Given the description of an element on the screen output the (x, y) to click on. 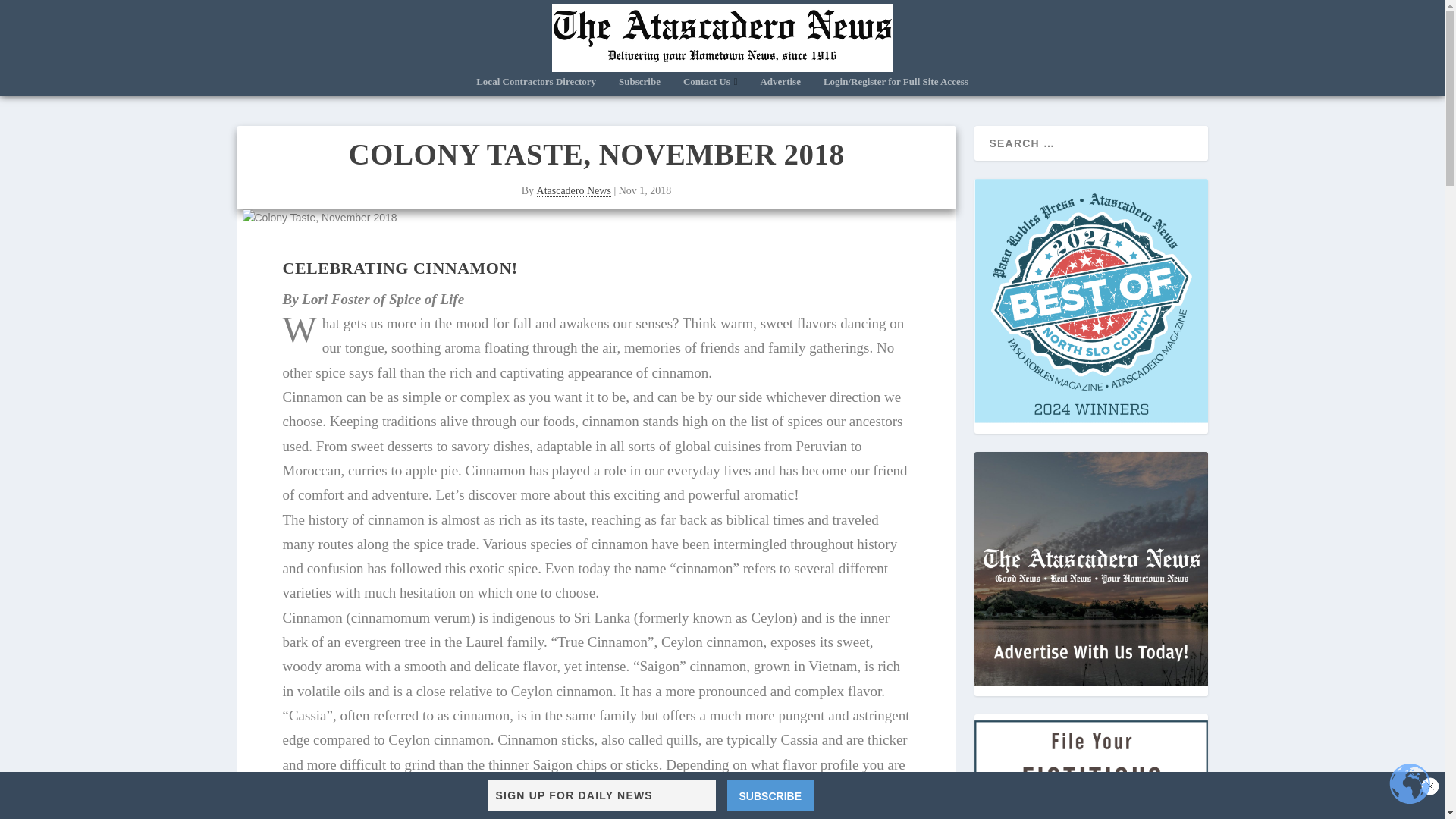
Advertise (779, 85)
Posts by Atascadero News (574, 191)
Atascadero News (574, 191)
Subscribe (639, 85)
Subscribe (769, 795)
Contact Us (710, 85)
Local Contractors Directory (535, 85)
